Given the description of an element on the screen output the (x, y) to click on. 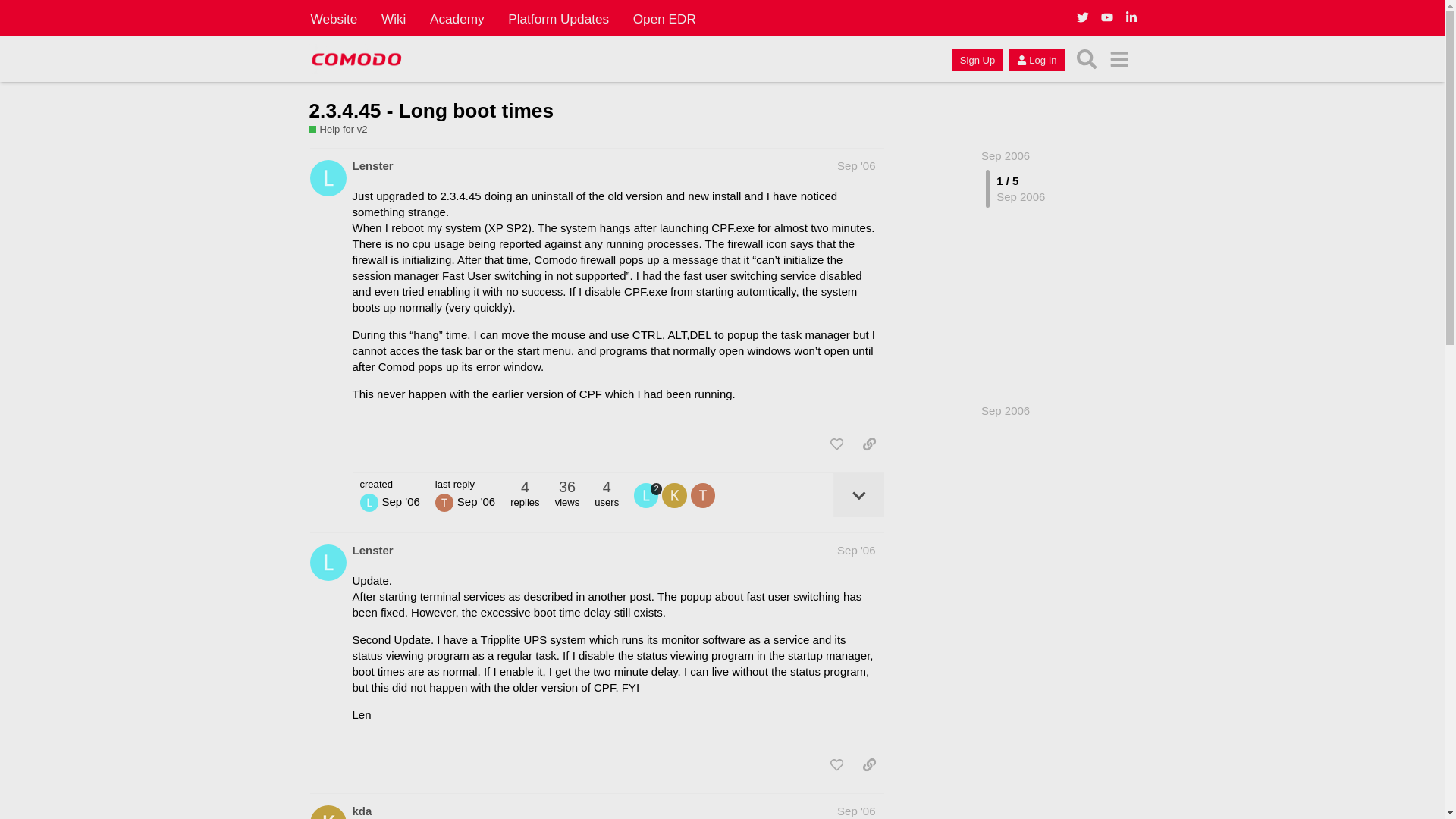
menu (1119, 59)
Help for v2 (338, 129)
Platform Updates (558, 18)
Sep 2006 (1005, 155)
Log In (1036, 60)
Search (1086, 59)
Sign Up (977, 60)
Lenster (372, 165)
Website (333, 18)
Lenster (372, 549)
like this post (836, 444)
Sep 2006 (1005, 155)
Open EDR (664, 18)
2.3.4.45 - Long boot times (431, 110)
share a link to this post (869, 444)
